Given the description of an element on the screen output the (x, y) to click on. 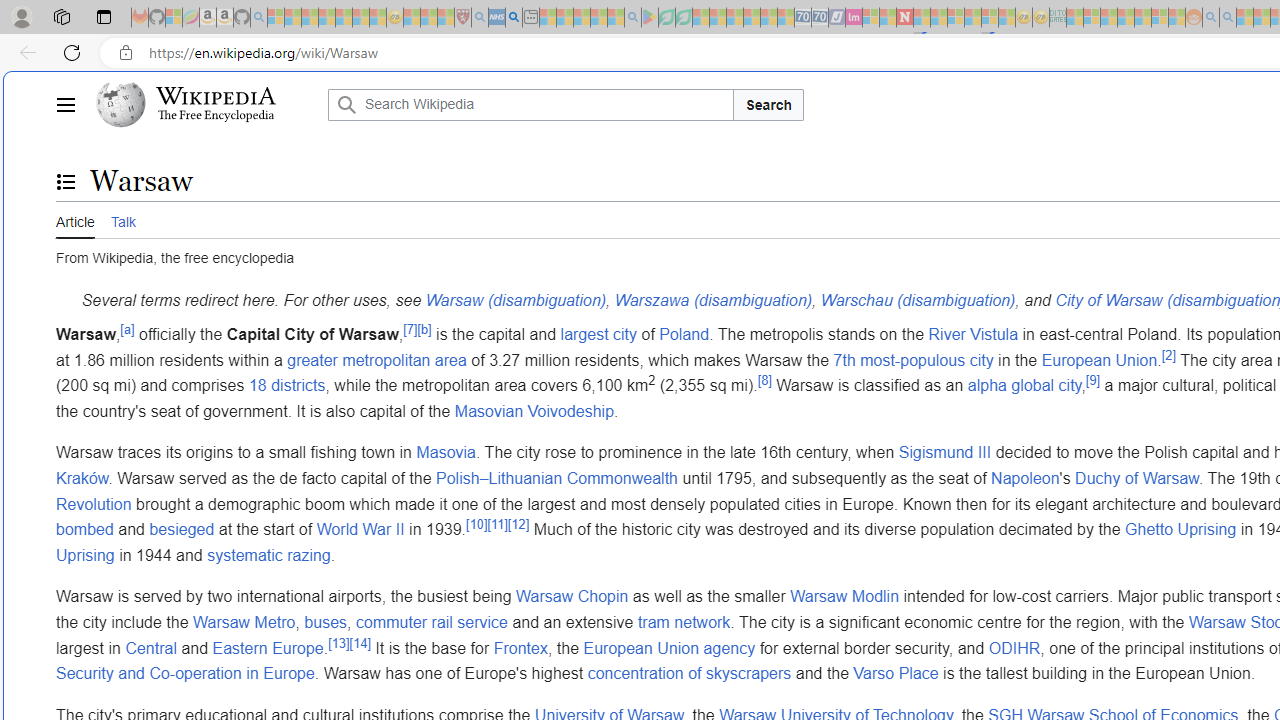
Talk (122, 219)
Warschau (disambiguation) (918, 301)
alpha (986, 386)
[2] (1168, 354)
Duchy of Warsaw (1137, 477)
Wikipedia The Free Encyclopedia (206, 104)
[7] (410, 328)
